Given the description of an element on the screen output the (x, y) to click on. 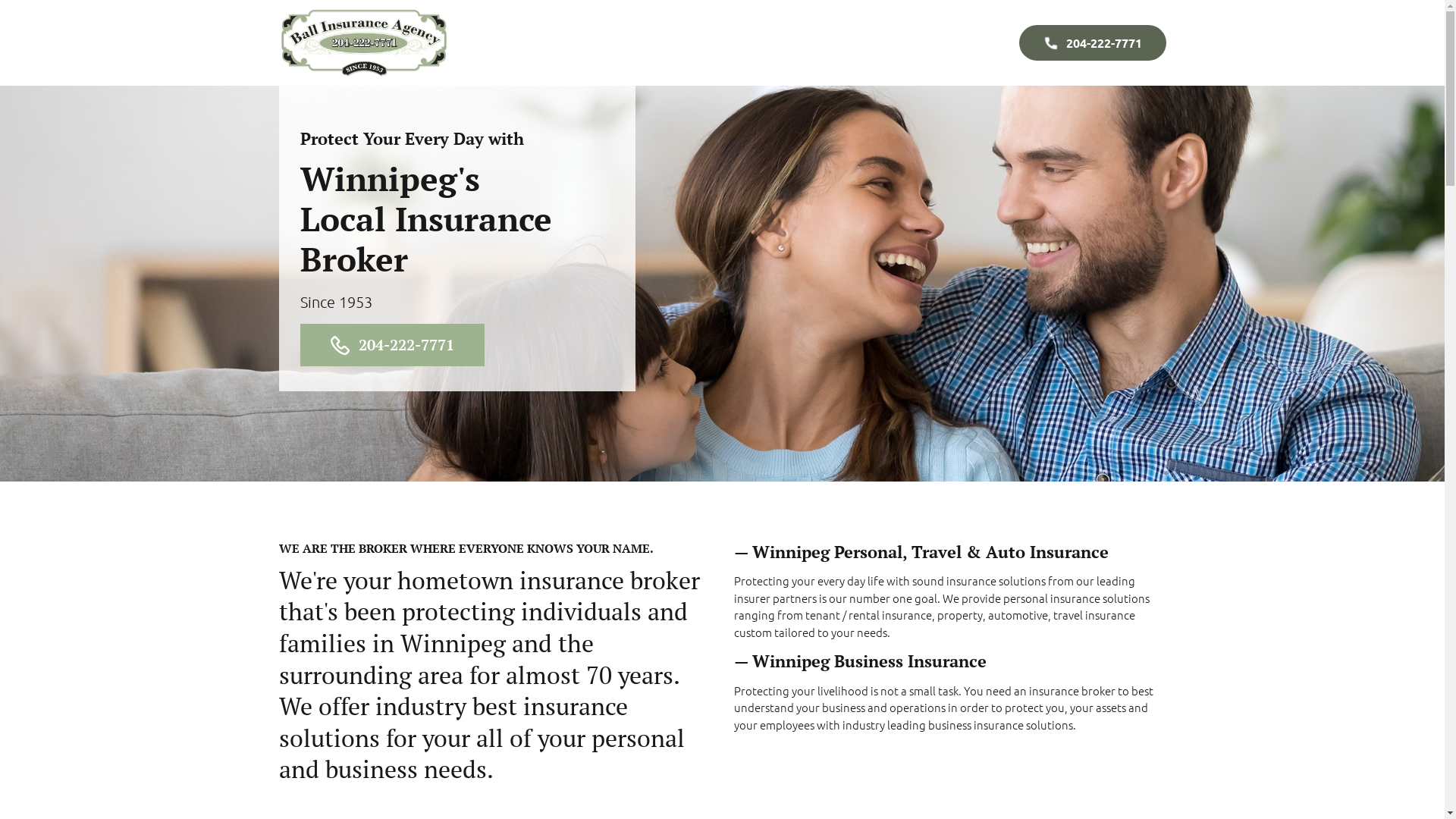
204-222-7771 Element type: text (392, 344)
204-222-7771 Element type: text (1092, 42)
